Given the description of an element on the screen output the (x, y) to click on. 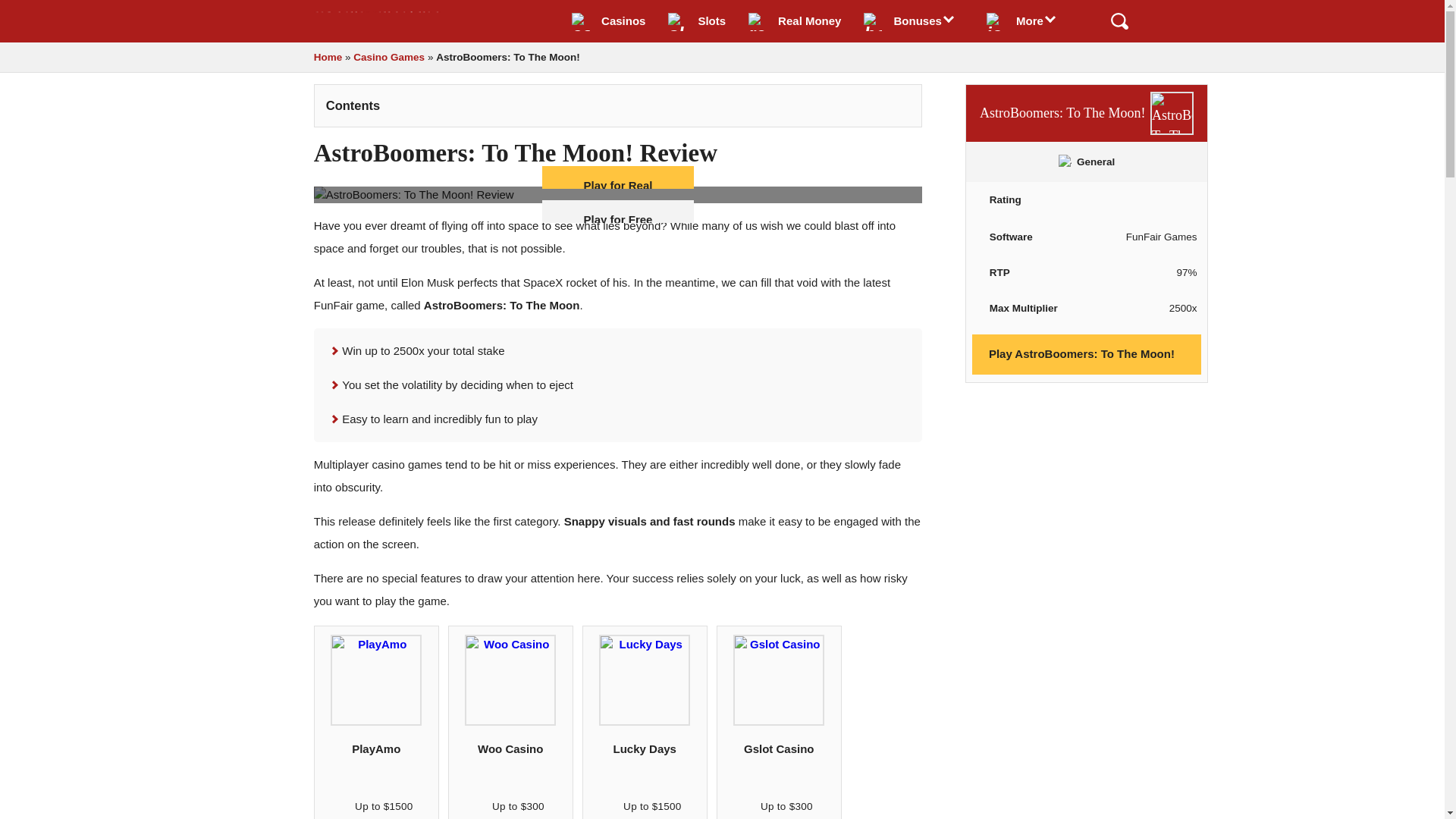
More (1026, 21)
Real Money (793, 21)
Casinos (608, 21)
Slots (696, 21)
Bonuses (913, 21)
